Given the description of an element on the screen output the (x, y) to click on. 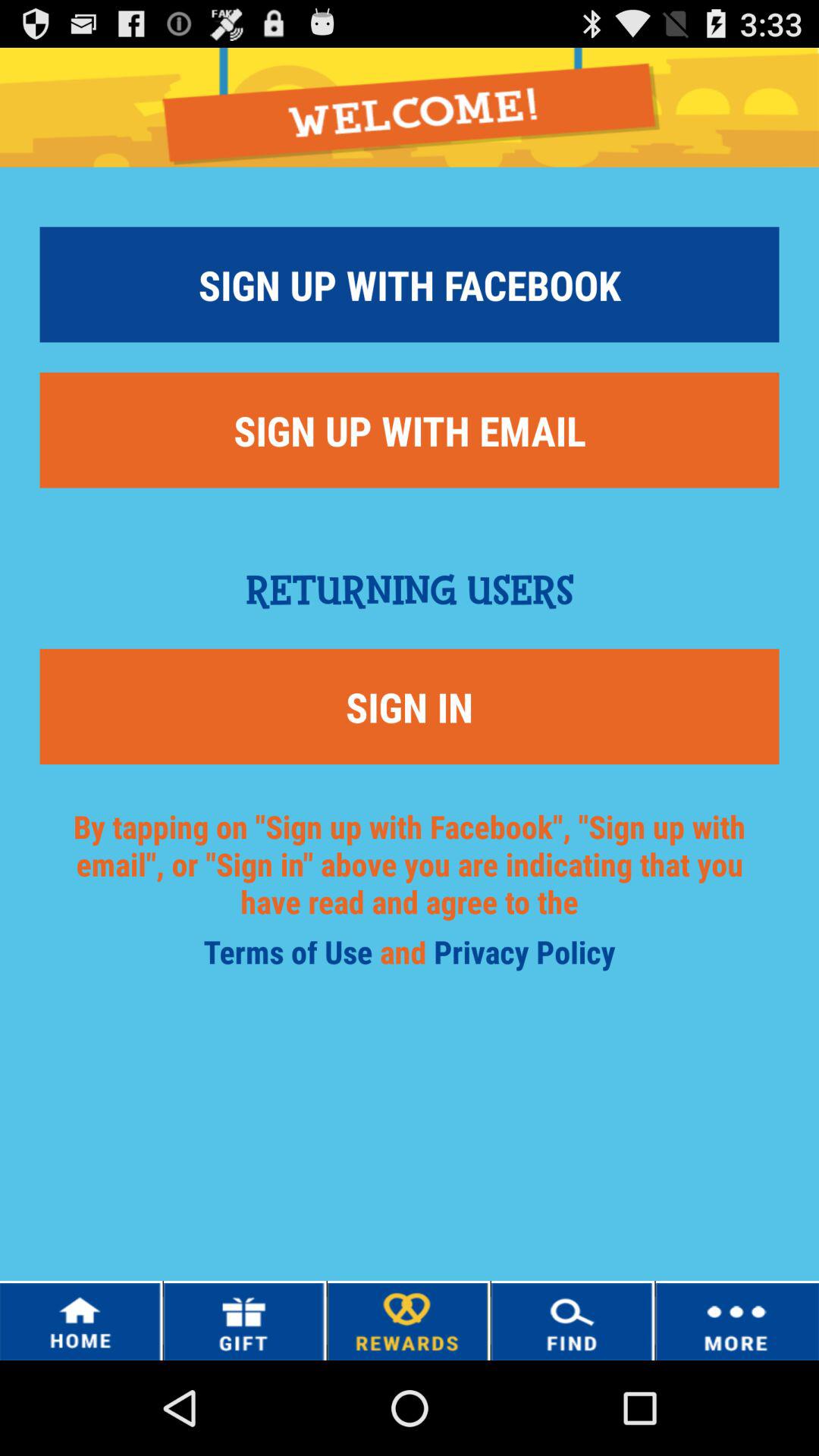
go to rewards (407, 1320)
